Given the description of an element on the screen output the (x, y) to click on. 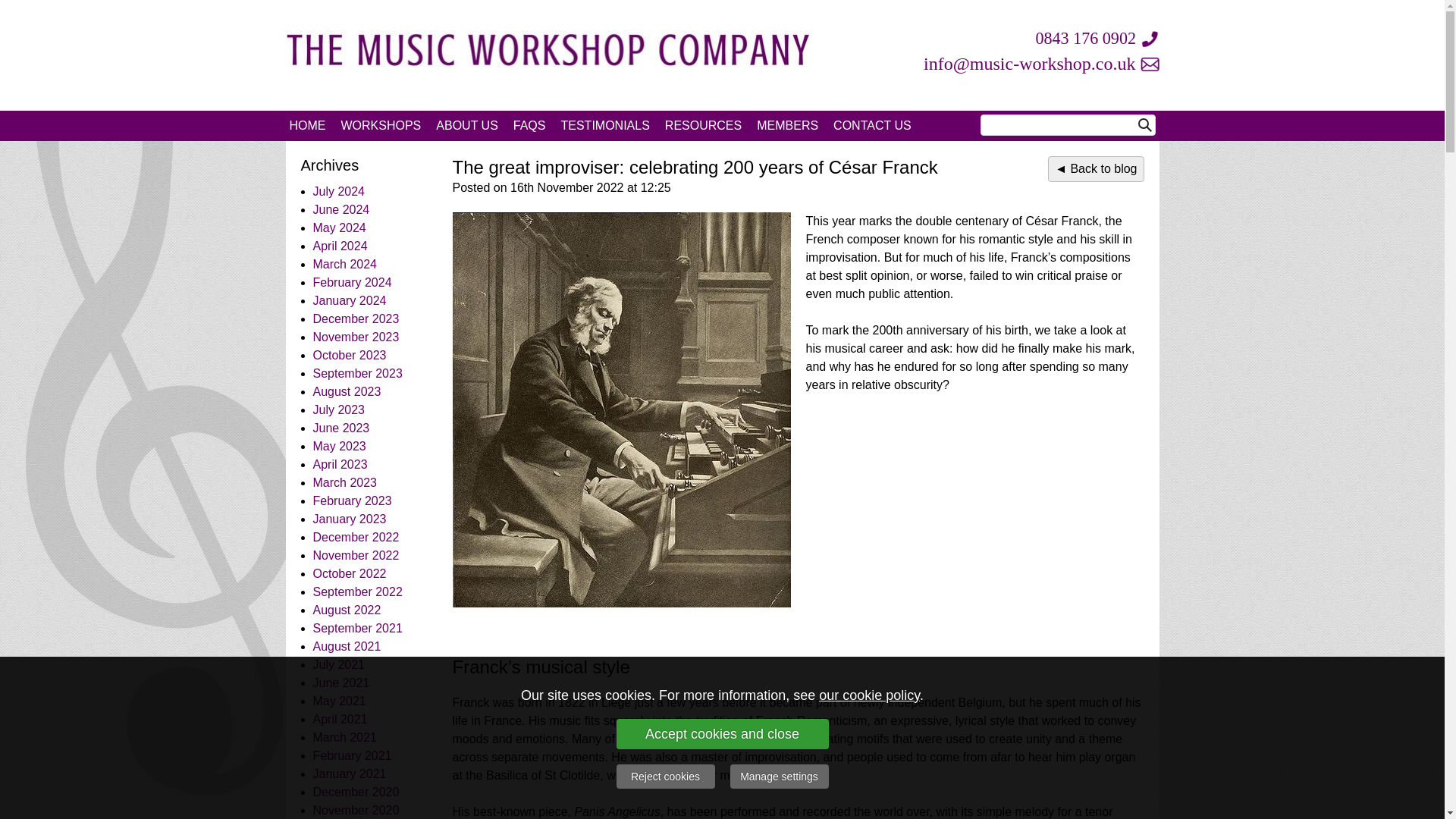
MEMBERS (787, 125)
FAQS (529, 125)
TESTIMONIALS (604, 125)
CONTACT US (871, 125)
RESOURCES (703, 125)
WORKSHOPS (381, 125)
ABOUT US (466, 125)
HOME (307, 125)
Back to blog (1095, 168)
